Given the description of an element on the screen output the (x, y) to click on. 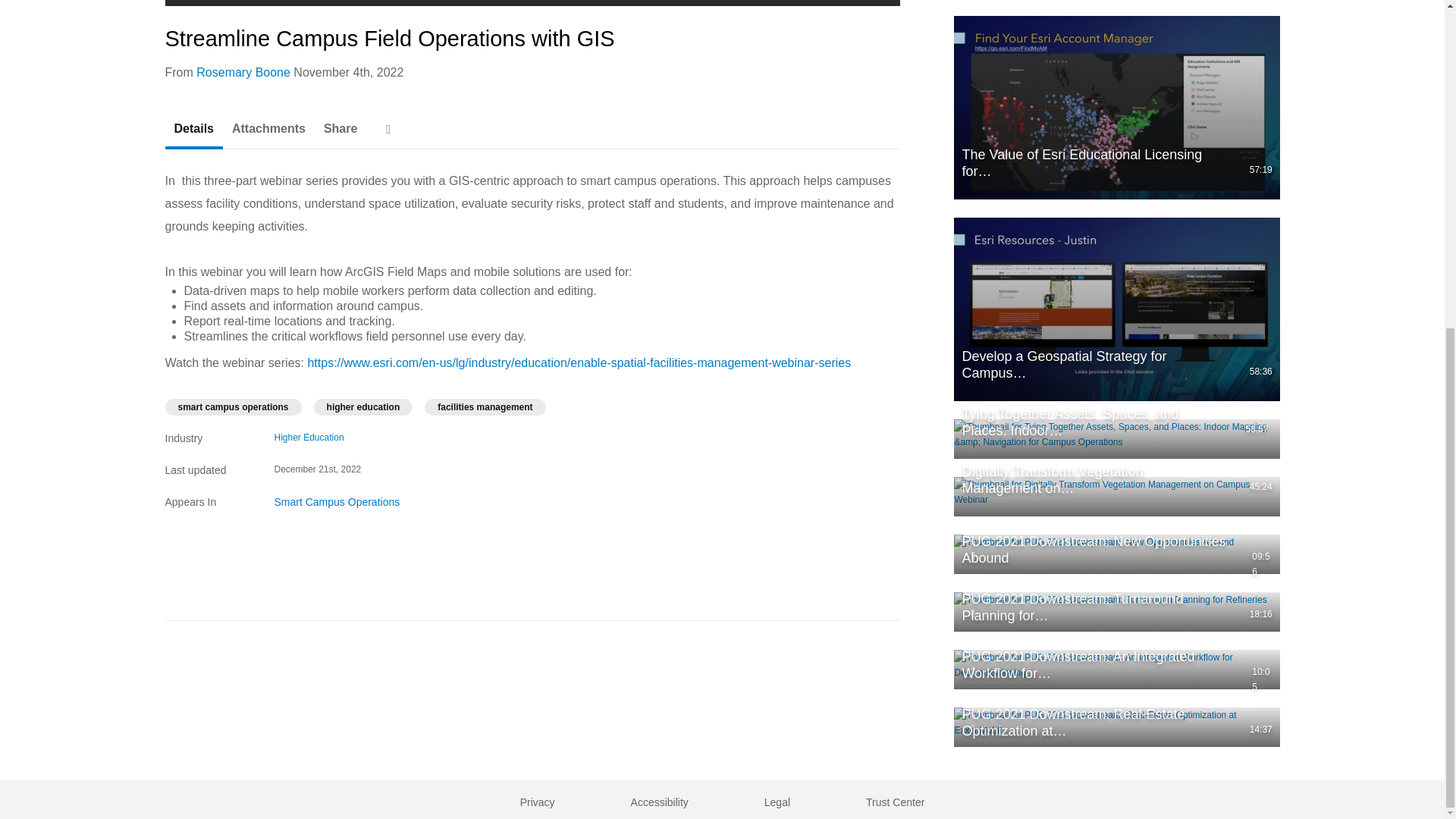
Last updated (210, 469)
Develop a Geospatial Strategy for Campus Operations (1116, 309)
PUG 2021 Downstream: New Opportunities Abound (1116, 554)
PUG 2021 Downstream: Turnaround Planning for Refineries (1116, 611)
Industry (210, 437)
PUG 2021 Downstream: Real-Estate Optimization at ExxonMobil (1116, 726)
Appears In (210, 501)
Digitally Transform Vegetation Management on Campus Webinar (1116, 496)
